Given the description of an element on the screen output the (x, y) to click on. 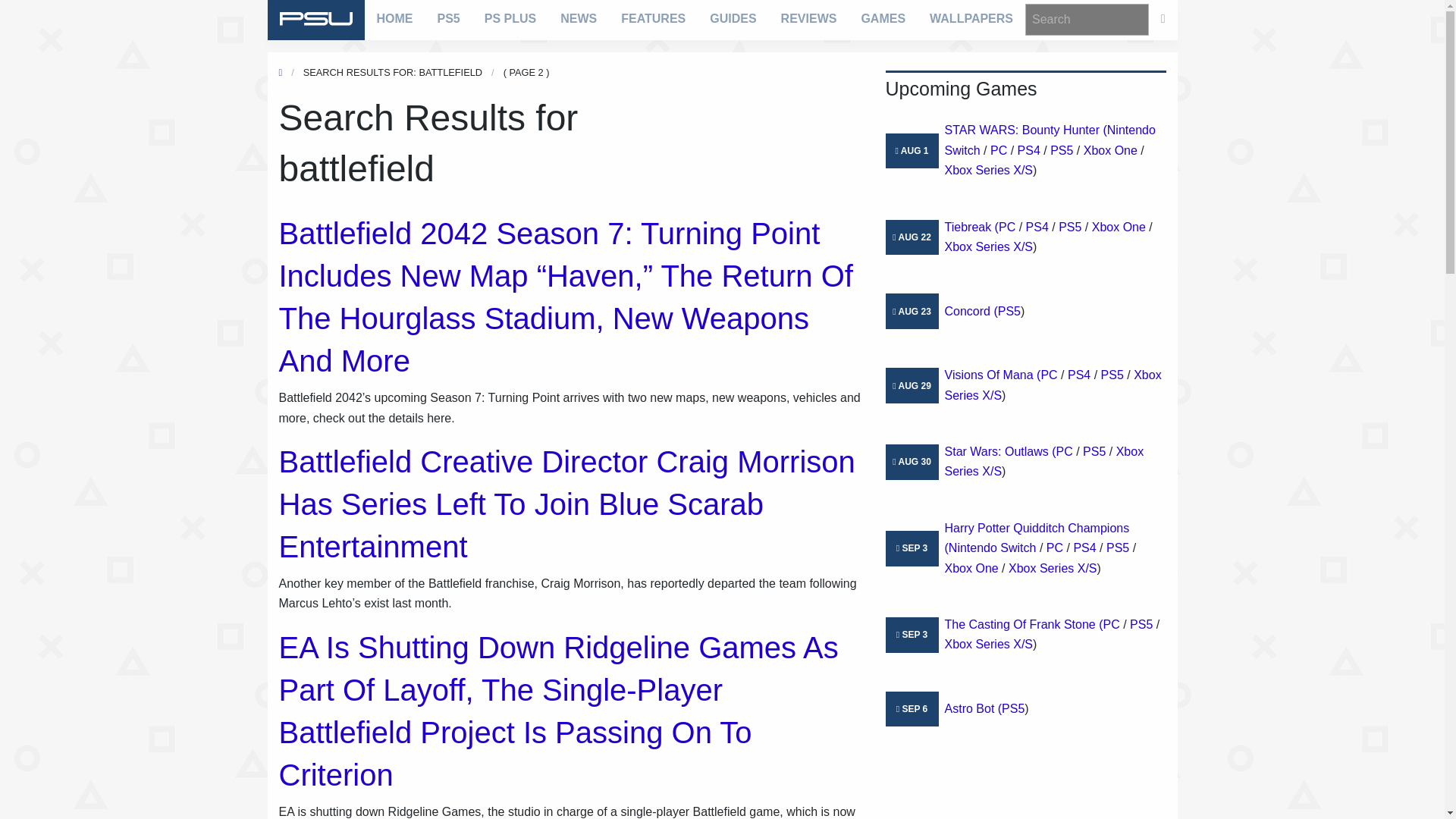
PS PLUS (509, 18)
PC (998, 150)
HOME (394, 18)
Nintendo Switch (1050, 139)
PS5 (448, 18)
GUIDES (732, 18)
PS4 (1029, 150)
AUG 1 (914, 150)
Xbox One (1110, 150)
NEWS (578, 18)
REVIEWS (808, 18)
WALLPAPERS (971, 18)
PS5 (1061, 150)
FEATURES (652, 18)
